Given the description of an element on the screen output the (x, y) to click on. 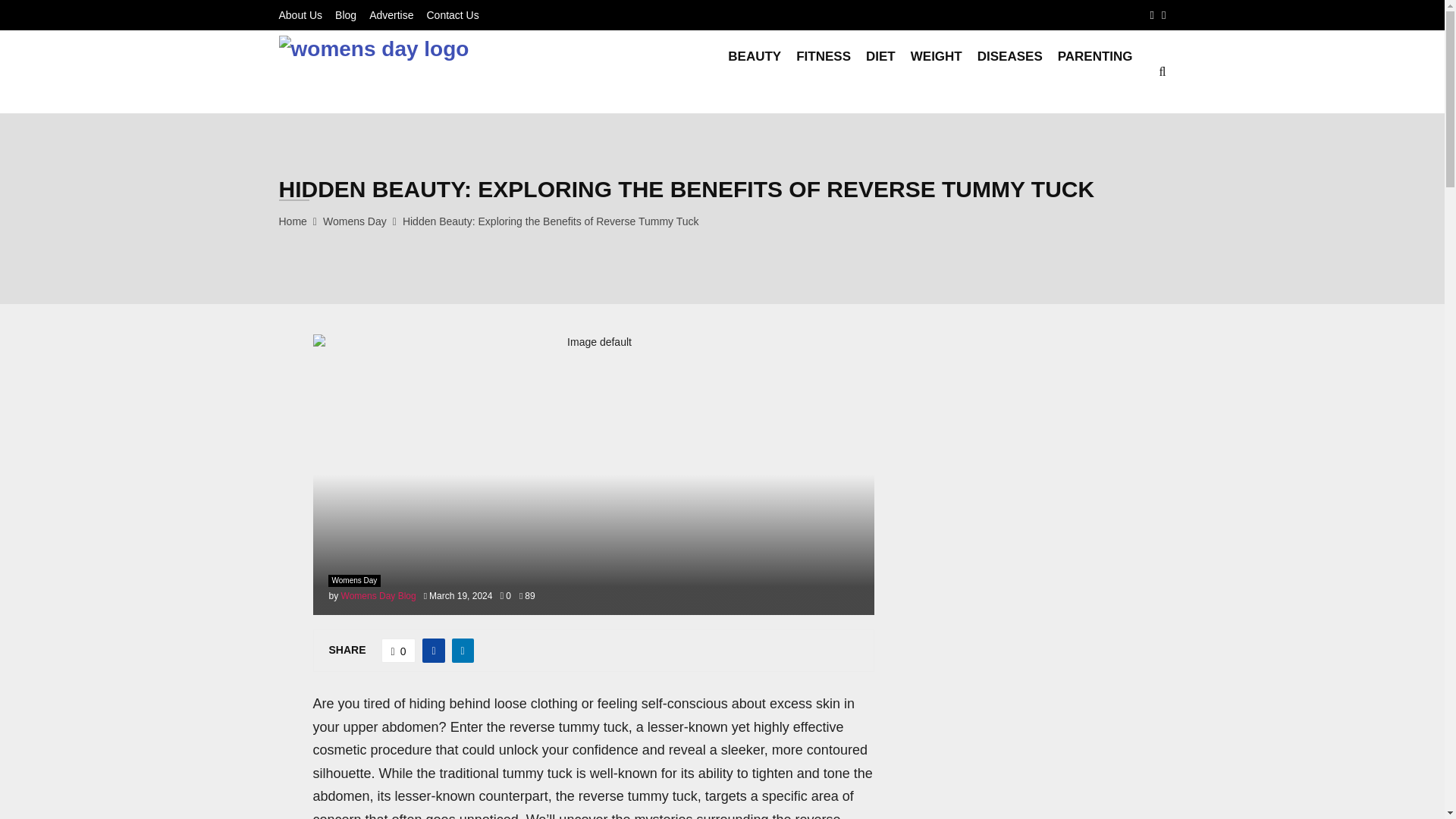
About Us (301, 15)
0 (505, 595)
Hidden Beauty: Exploring the Benefits of Reverse Tummy Tuck (550, 221)
Home (293, 221)
0 (398, 650)
Blog (345, 15)
Contact Us (452, 15)
Womens Day (355, 221)
Womens Day (353, 580)
PARENTING (1095, 71)
